Given the description of an element on the screen output the (x, y) to click on. 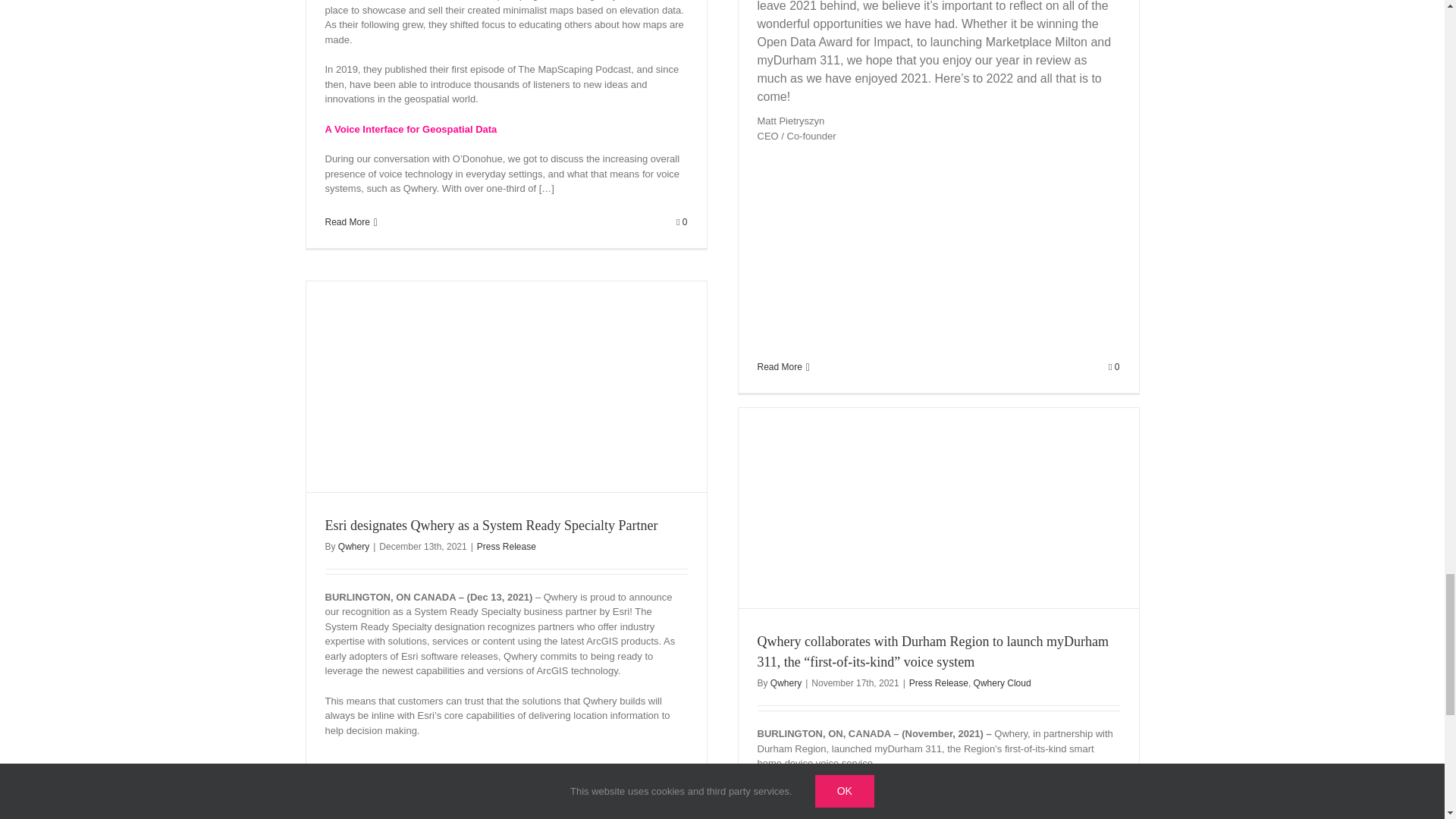
Posts by Qwhery (786, 683)
Posts by Qwhery (353, 546)
